Given the description of an element on the screen output the (x, y) to click on. 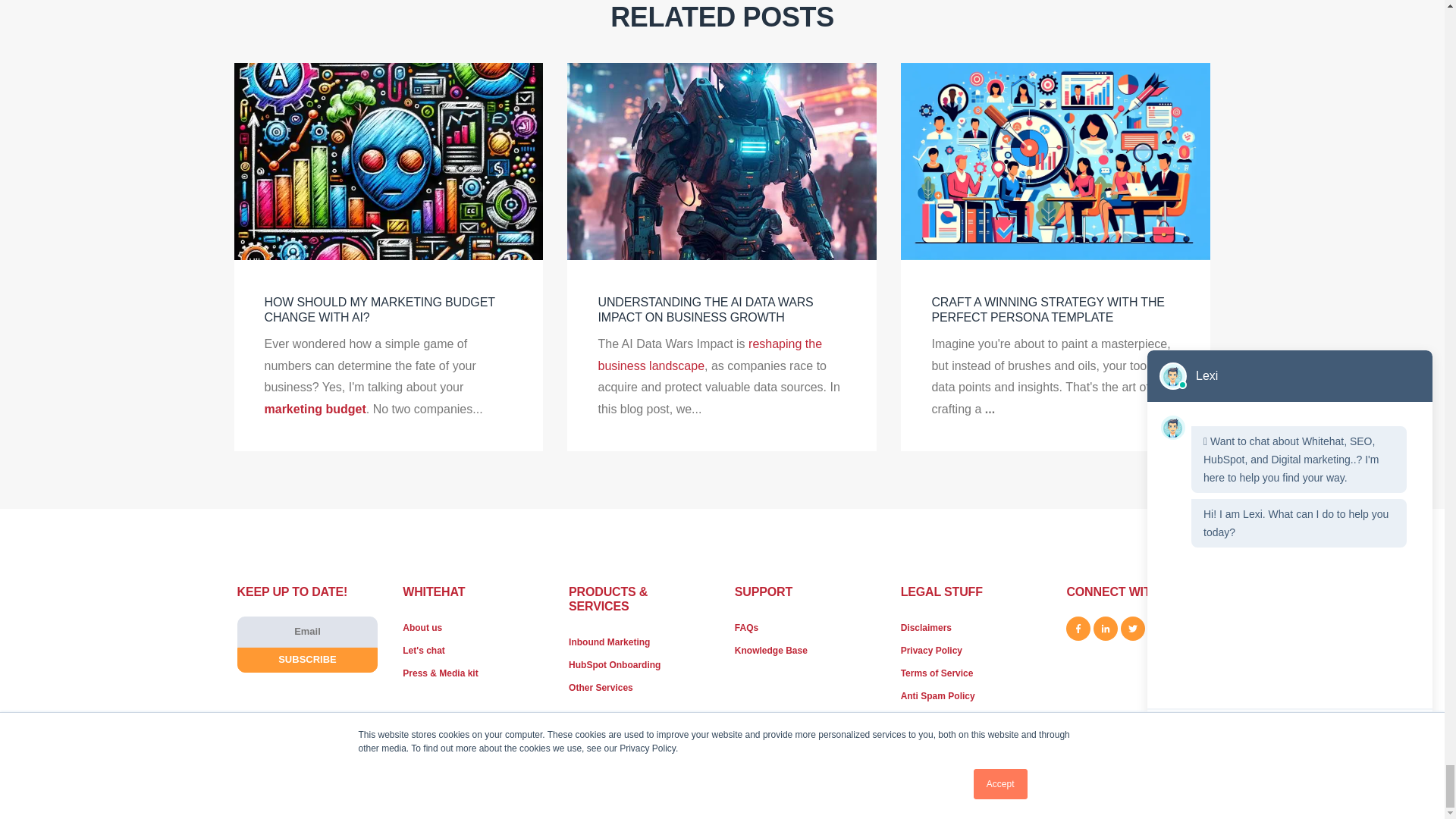
Subscribe (306, 659)
